Given the description of an element on the screen output the (x, y) to click on. 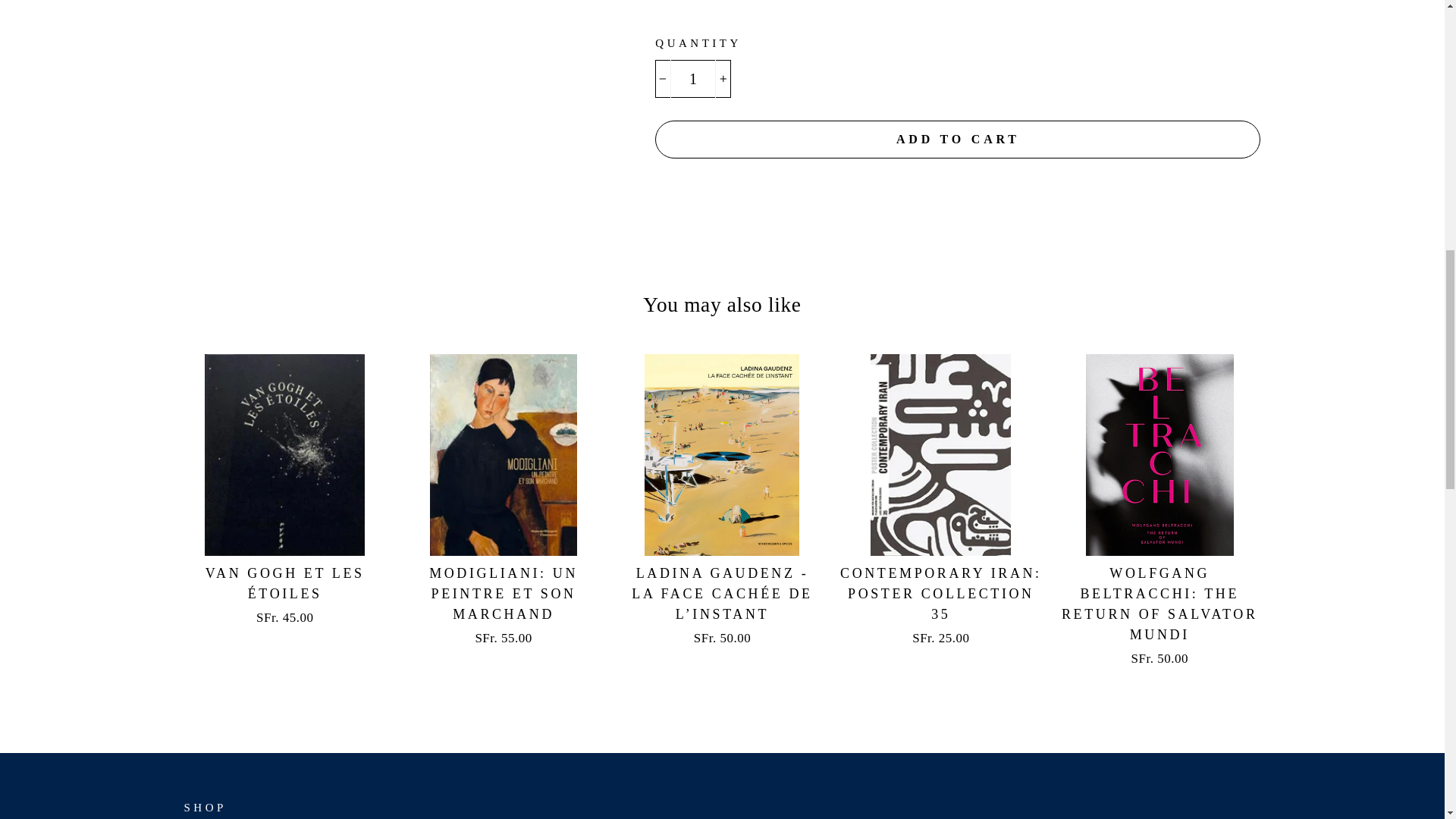
1 (692, 78)
